Given the description of an element on the screen output the (x, y) to click on. 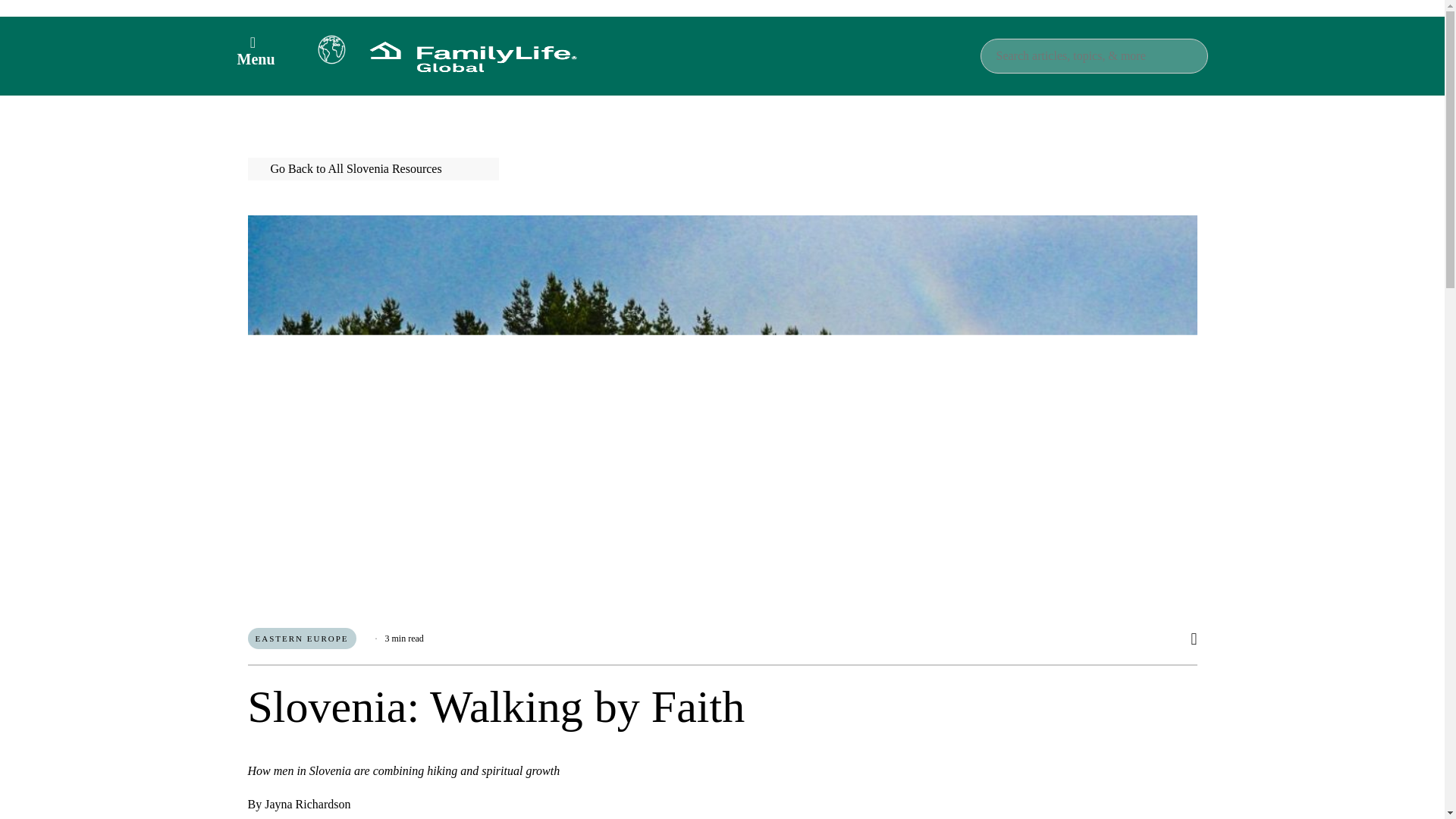
Search for: (1093, 55)
Go Back to All Slovenia Resources (372, 169)
EASTERN EUROPE (301, 638)
